Given the description of an element on the screen output the (x, y) to click on. 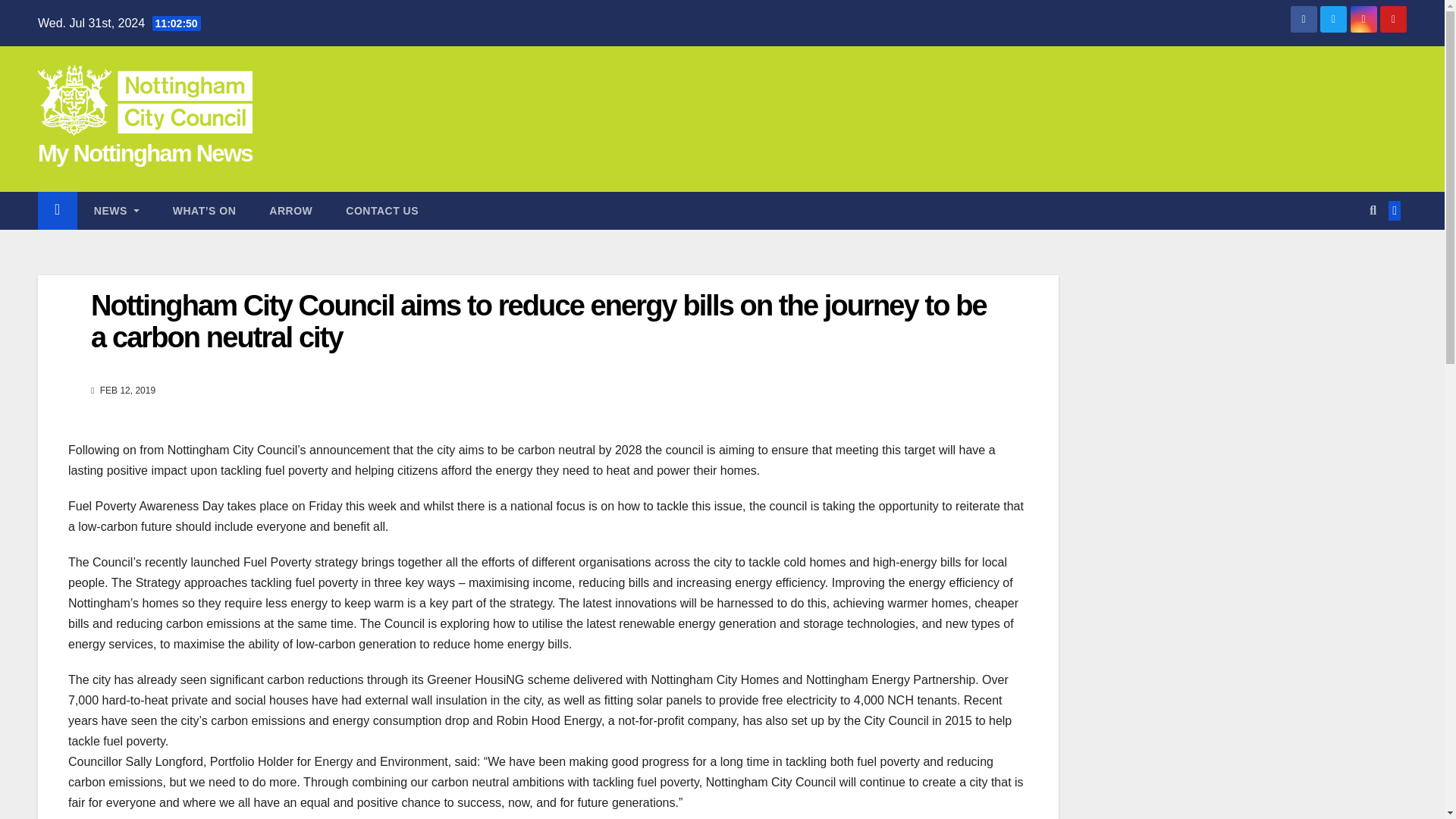
News (116, 210)
CONTACT US (382, 210)
What's On (204, 210)
NEWS (116, 210)
ARROW (290, 210)
My Nottingham News (144, 153)
